Given the description of an element on the screen output the (x, y) to click on. 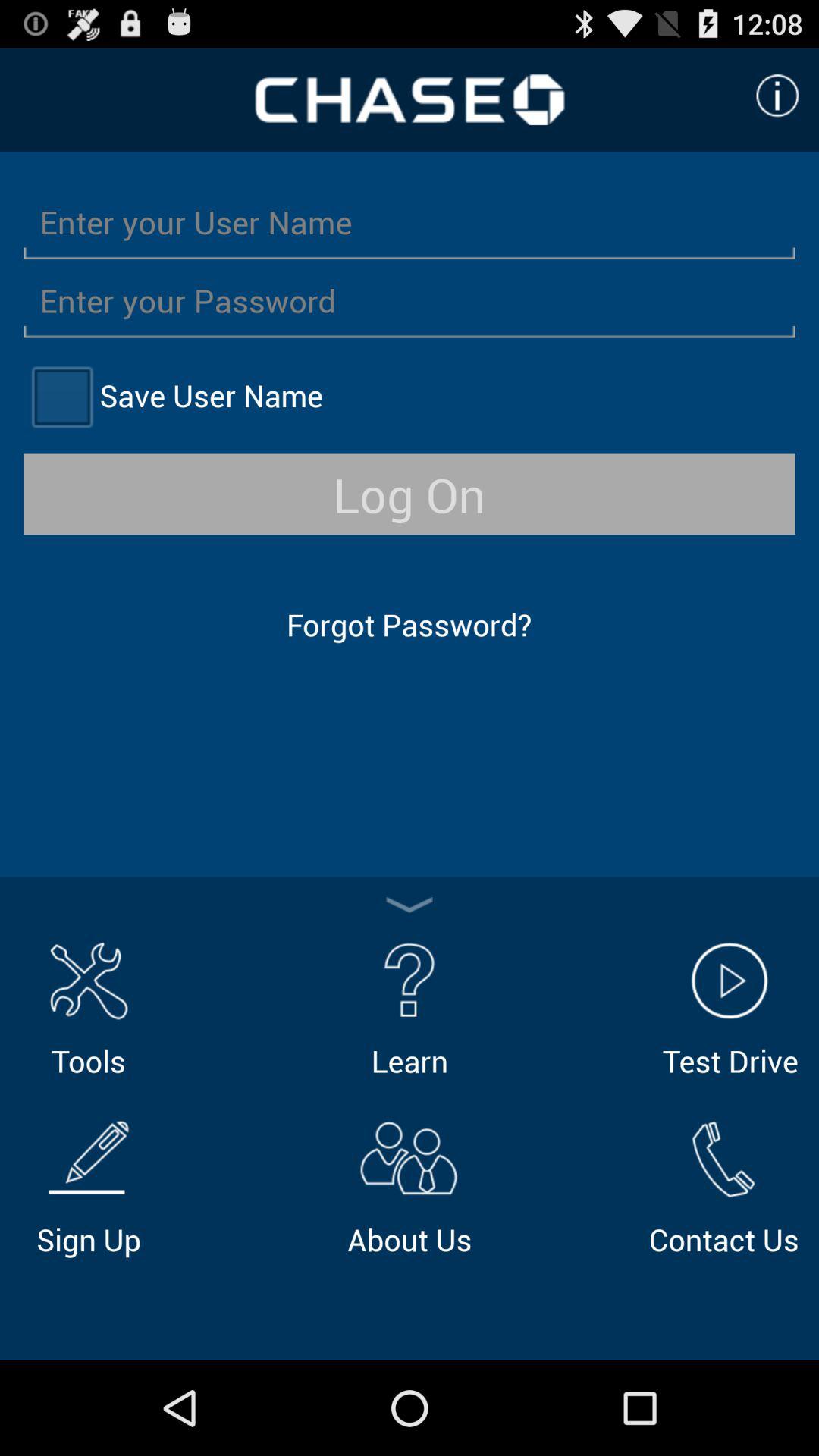
launch item next to save user name item (61, 395)
